Given the description of an element on the screen output the (x, y) to click on. 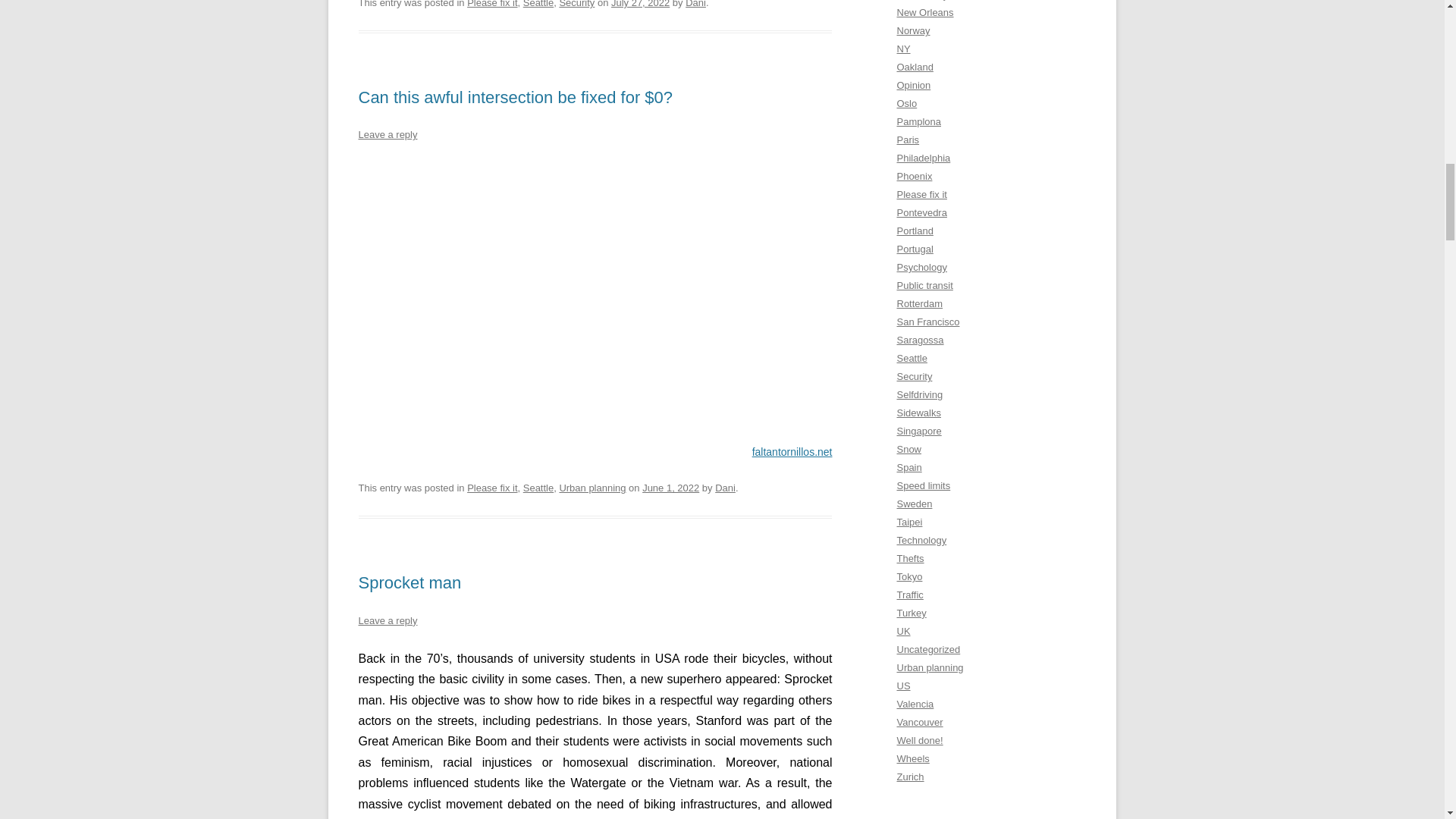
Leave a reply (387, 134)
Dani (724, 487)
Please fix it (491, 487)
View all posts by Dani (695, 4)
Leave a reply (387, 620)
View all posts by Dani (724, 487)
June 1, 2022 (670, 487)
Please fix it (491, 4)
Urban planning (592, 487)
12:00 am (670, 487)
Seattle (537, 487)
July 27, 2022 (640, 4)
Sprocket man (409, 582)
YouTube video player (595, 281)
Security (576, 4)
